Given the description of an element on the screen output the (x, y) to click on. 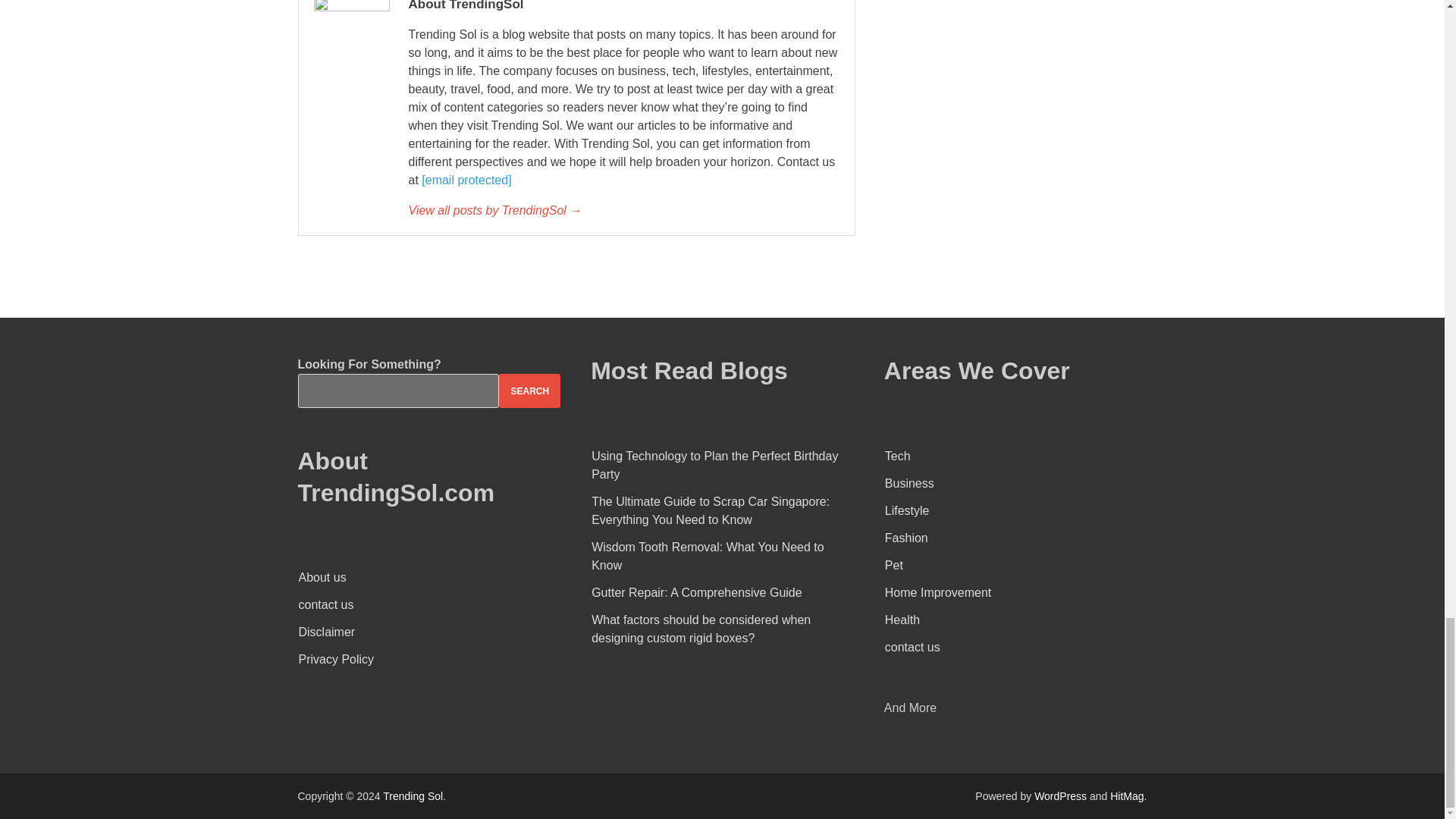
HitMag WordPress Theme (1125, 796)
Trending Sol (412, 796)
WordPress (1059, 796)
TrendingSol (622, 210)
